Given the description of an element on the screen output the (x, y) to click on. 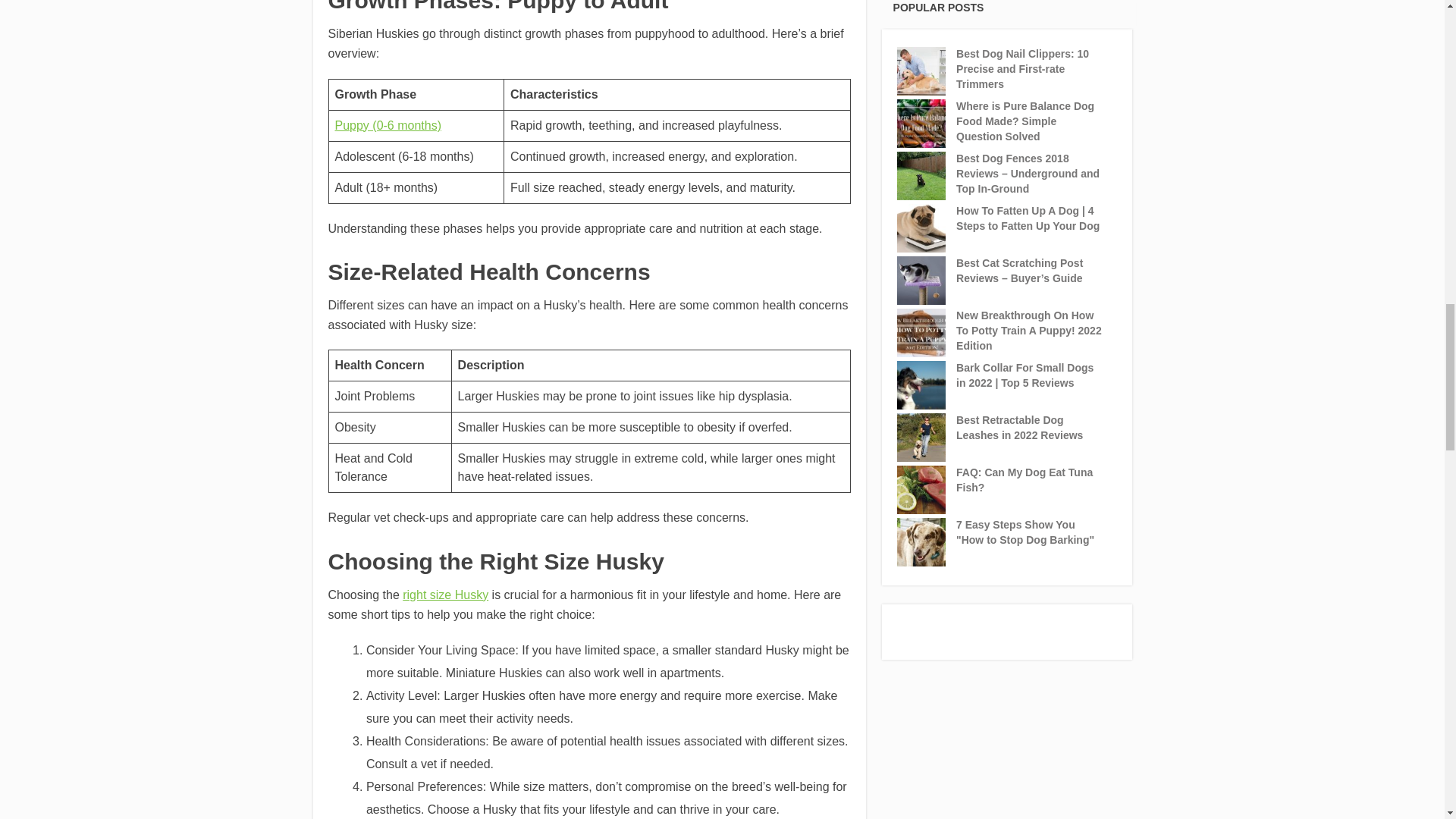
right size Husky (445, 594)
